Given the description of an element on the screen output the (x, y) to click on. 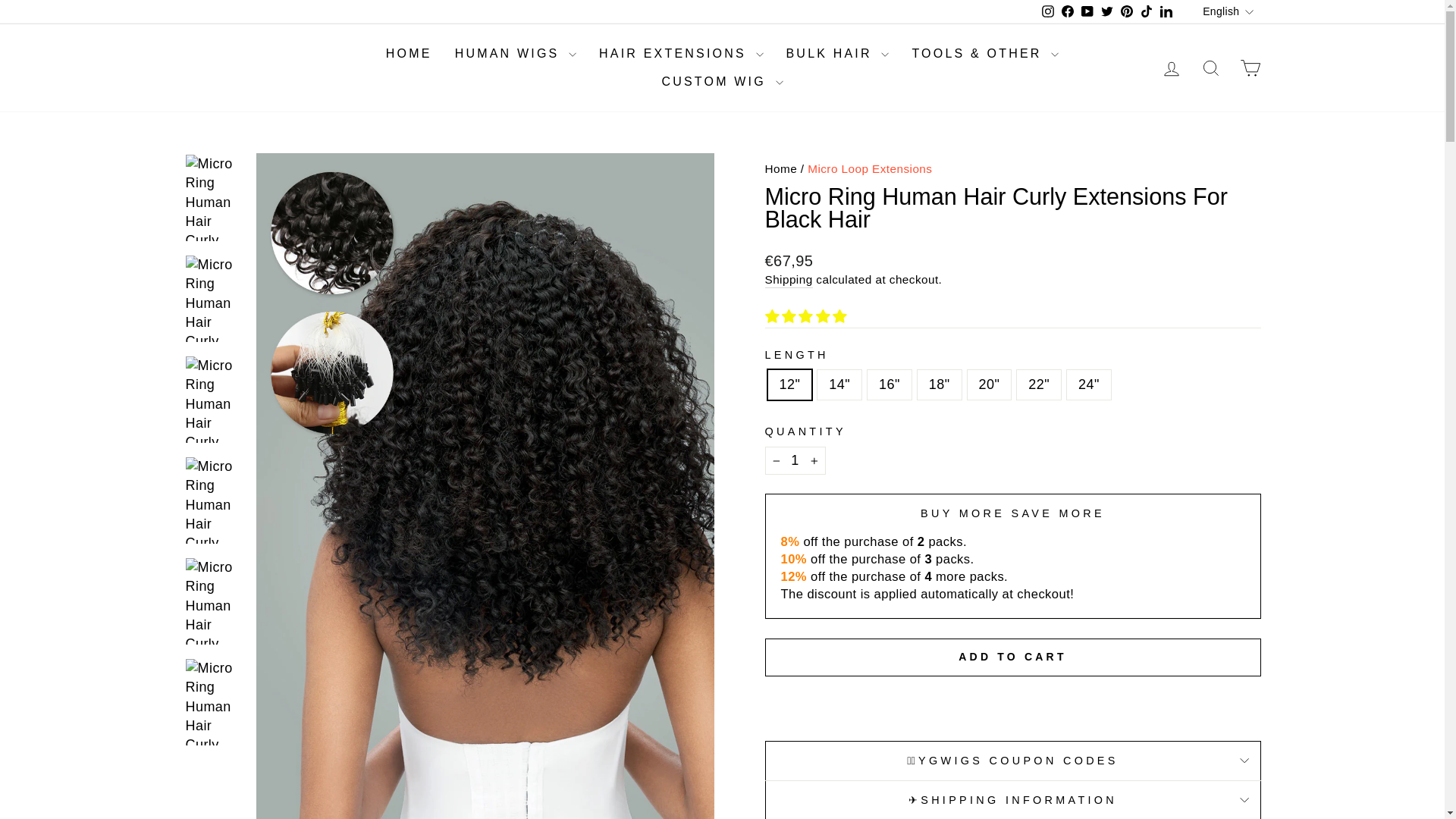
ICON-SEARCH (1210, 67)
Back to the frontpage (780, 168)
twitter (1106, 10)
ACCOUNT (1170, 68)
1 (794, 460)
instagram (1048, 10)
